Given the description of an element on the screen output the (x, y) to click on. 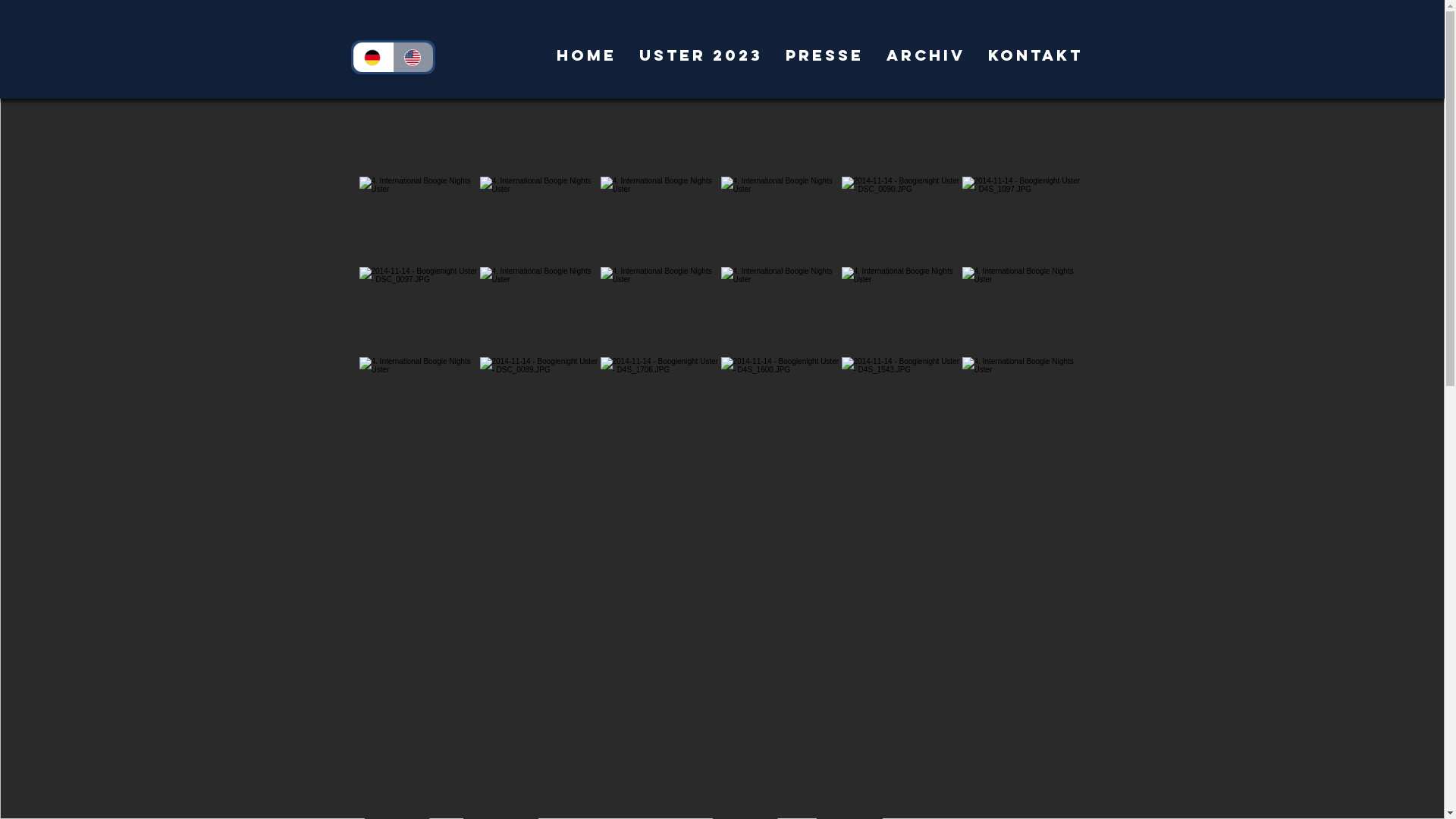
Home Element type: text (585, 55)
Kontakt Element type: text (1035, 55)
Presse Element type: text (823, 55)
Archiv Element type: text (925, 55)
Uster 2023 Element type: text (700, 55)
